Given the description of an element on the screen output the (x, y) to click on. 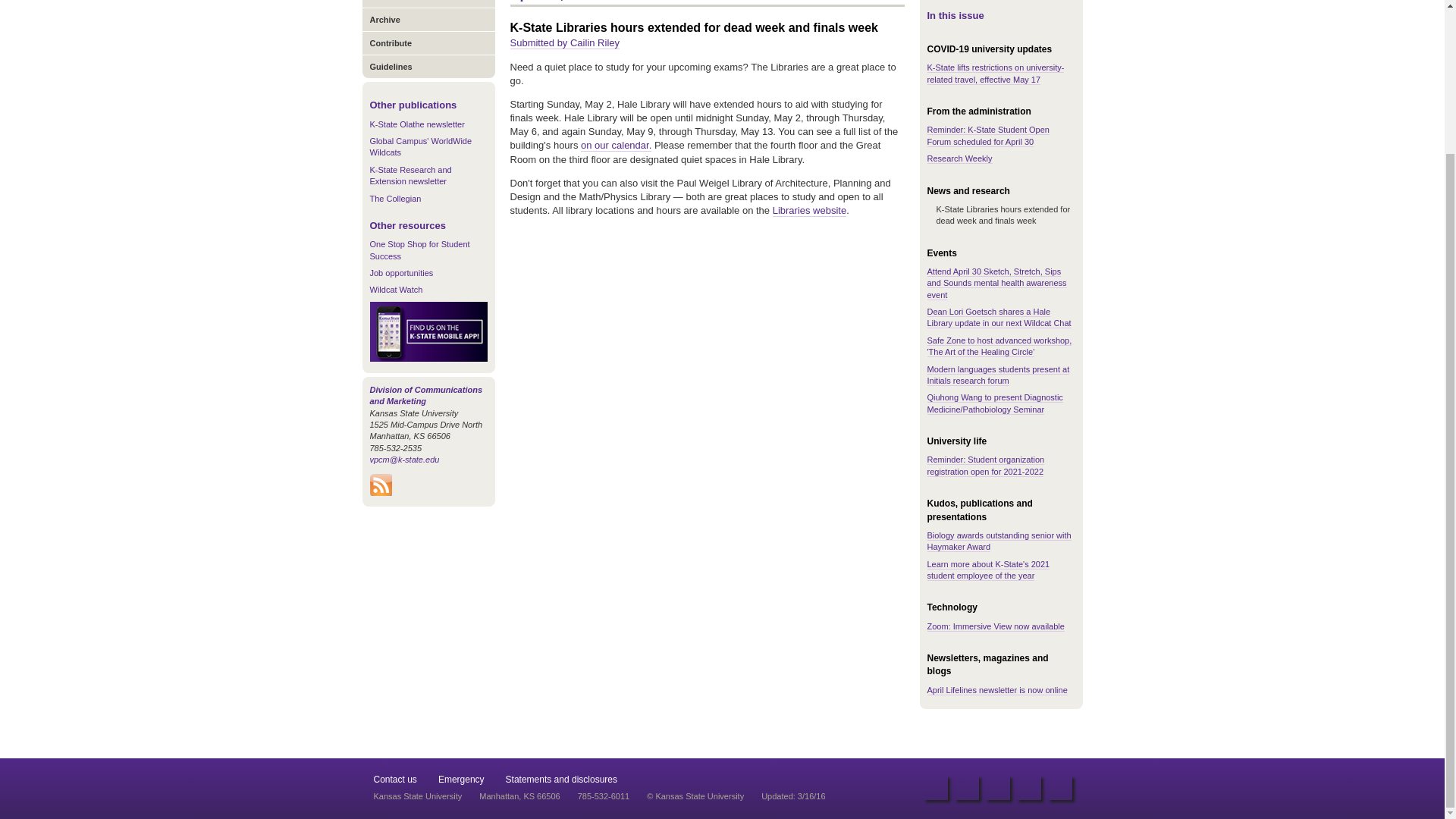
Submitted by Cailin Riley (564, 42)
Current Issue (428, 3)
Guidelines (428, 65)
Archive (428, 19)
on our calendar. (615, 145)
One Stop Shop for Student Success (419, 249)
Global Campus' WorldWide Wildcats (420, 146)
Division of Communications and Marketing (426, 394)
The Collegian (395, 198)
